Given the description of an element on the screen output the (x, y) to click on. 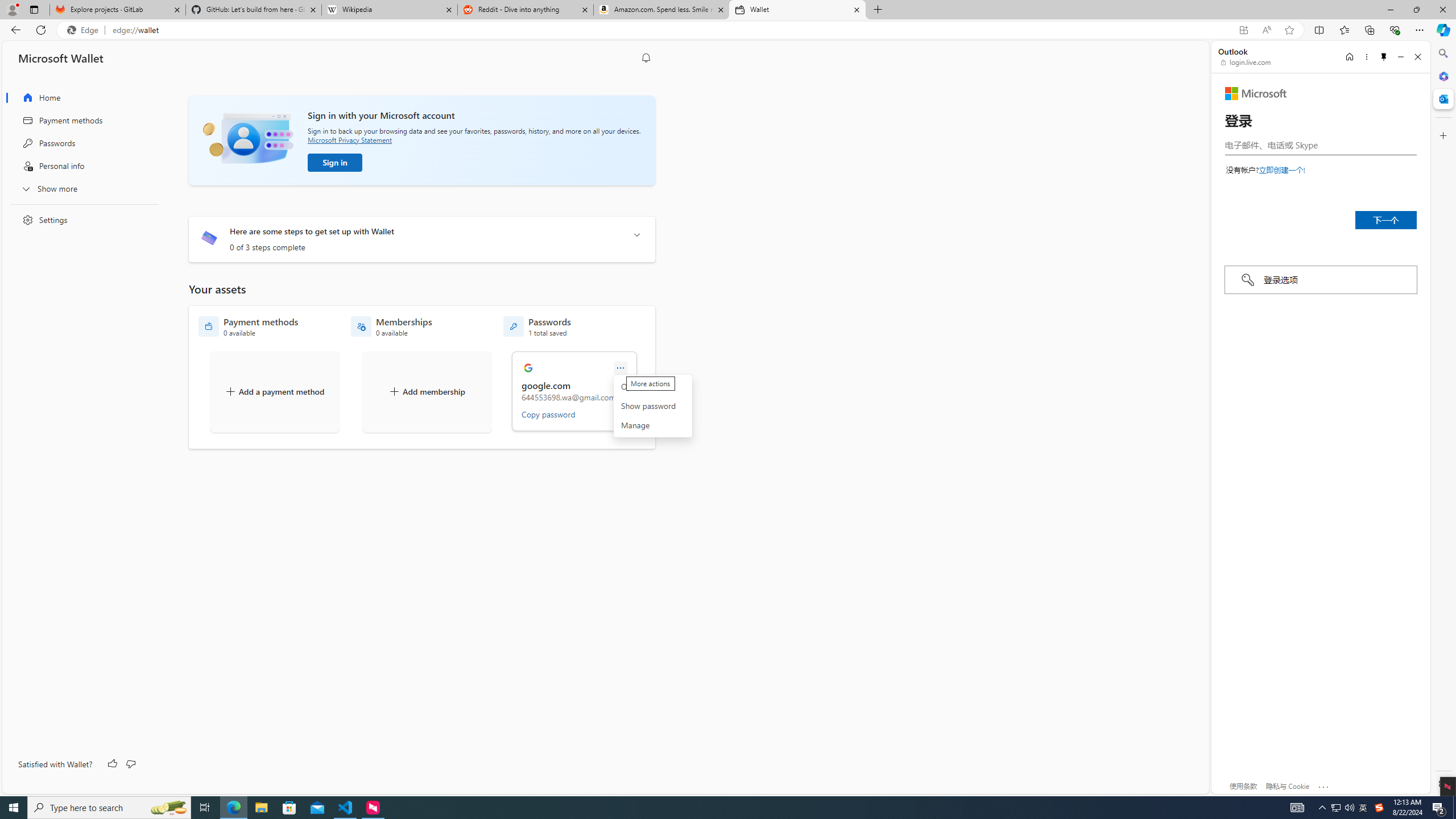
Open website (651, 386)
Wikipedia (390, 9)
Microsoft (1255, 93)
More actions google.com 644553698.wa@gmail.com Copy password (574, 391)
Passwords (81, 142)
App available. Install Microsoft Wallet (1243, 29)
Copy password (548, 414)
Sign in (334, 162)
